Given the description of an element on the screen output the (x, y) to click on. 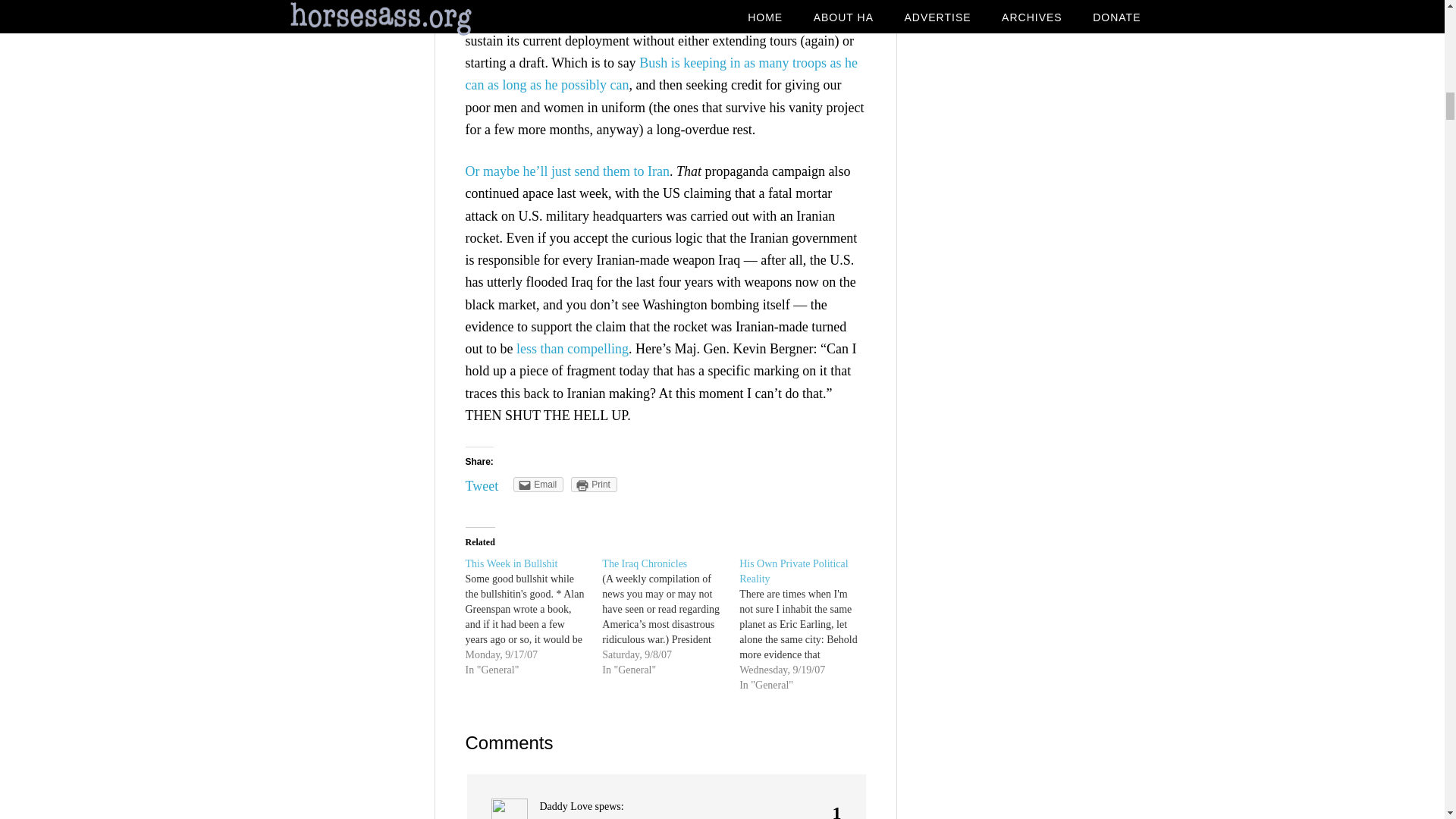
His Own Private Political Reality (807, 624)
The Iraq Chronicles (644, 563)
His Own Private Political Reality (793, 570)
This Week in Bullshit (511, 563)
Print (593, 484)
The Iraq Chronicles (670, 617)
less than compelling (572, 348)
The Iraq Chronicles (644, 563)
His Own Private Political Reality (793, 570)
This Week in Bullshit (511, 563)
